Given the description of an element on the screen output the (x, y) to click on. 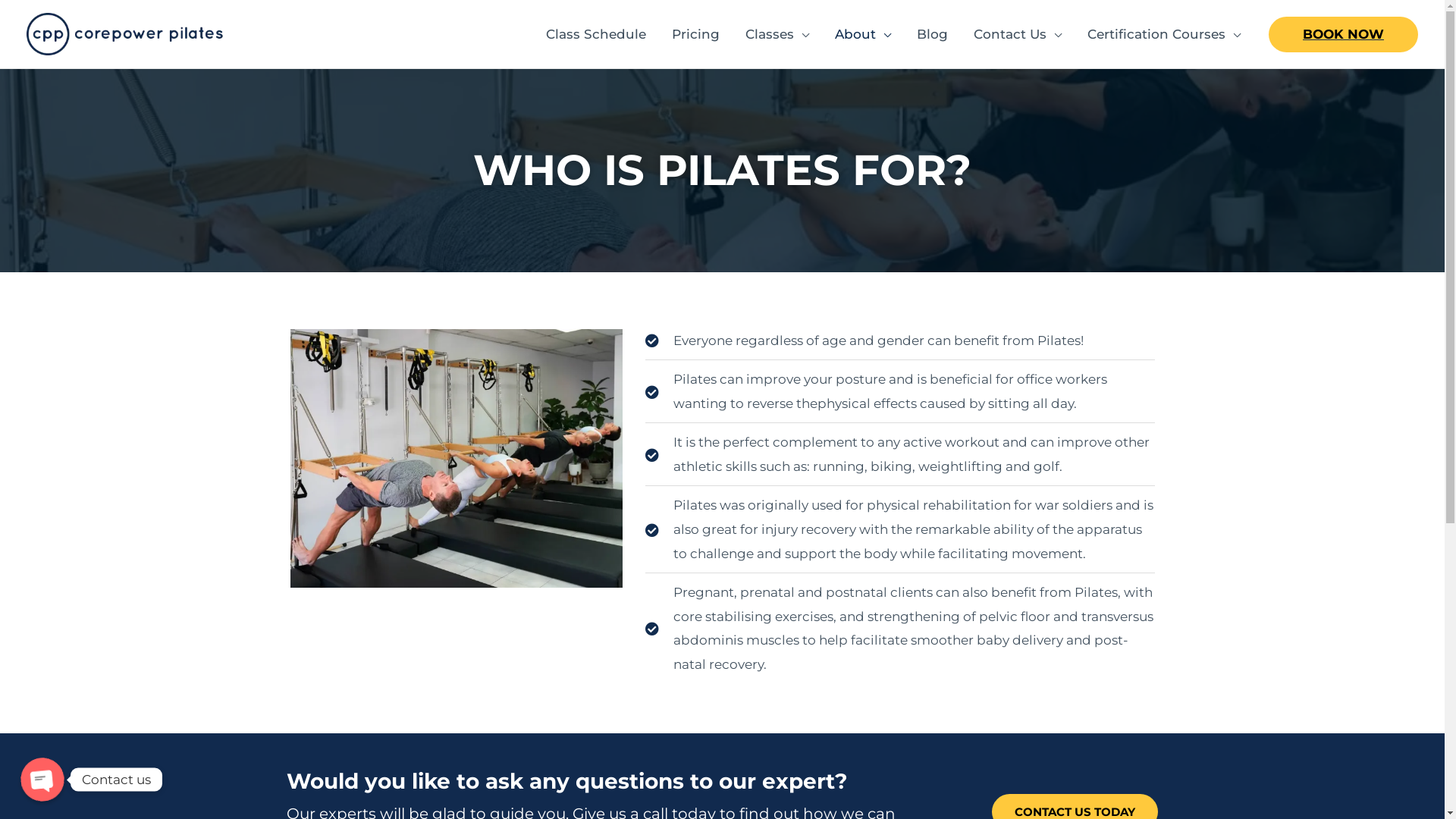
About Element type: text (862, 33)
Blog Element type: text (931, 33)
Class Schedule Element type: text (595, 33)
Classes Element type: text (777, 33)
pilates2-1 Element type: hover (455, 458)
BOOK NOW Element type: text (1343, 34)
Certification Courses Element type: text (1163, 33)
Contact Us Element type: text (1017, 33)
Pricing Element type: text (695, 33)
